Given the description of an element on the screen output the (x, y) to click on. 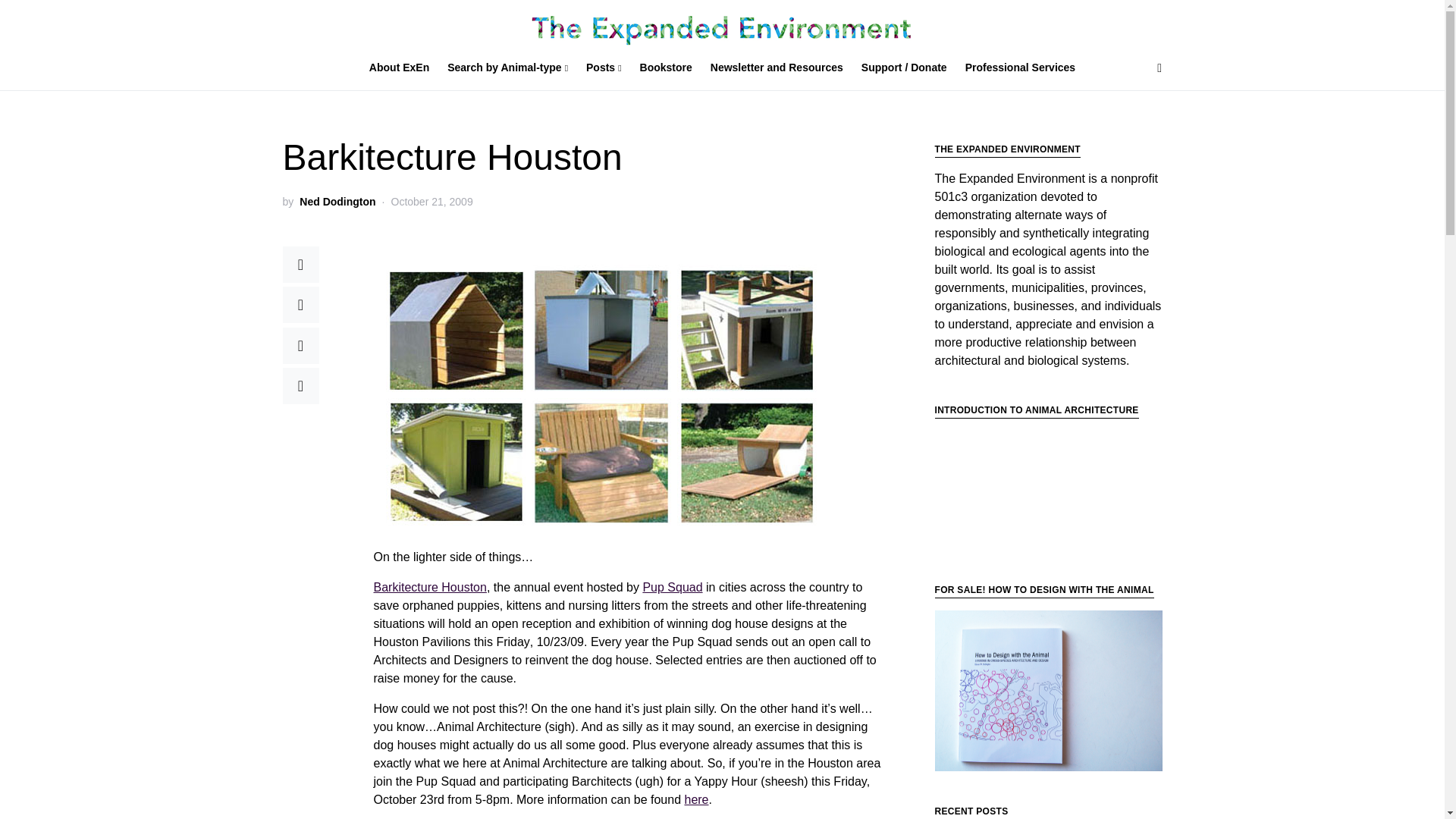
Posts (603, 67)
Professional Services (1015, 67)
Bookstore (665, 67)
Newsletter and Resources (776, 67)
View all posts by Ned Dodington (337, 201)
scottpanels (1047, 691)
Search by Animal-type (507, 67)
About ExEn (403, 67)
